Given the description of an element on the screen output the (x, y) to click on. 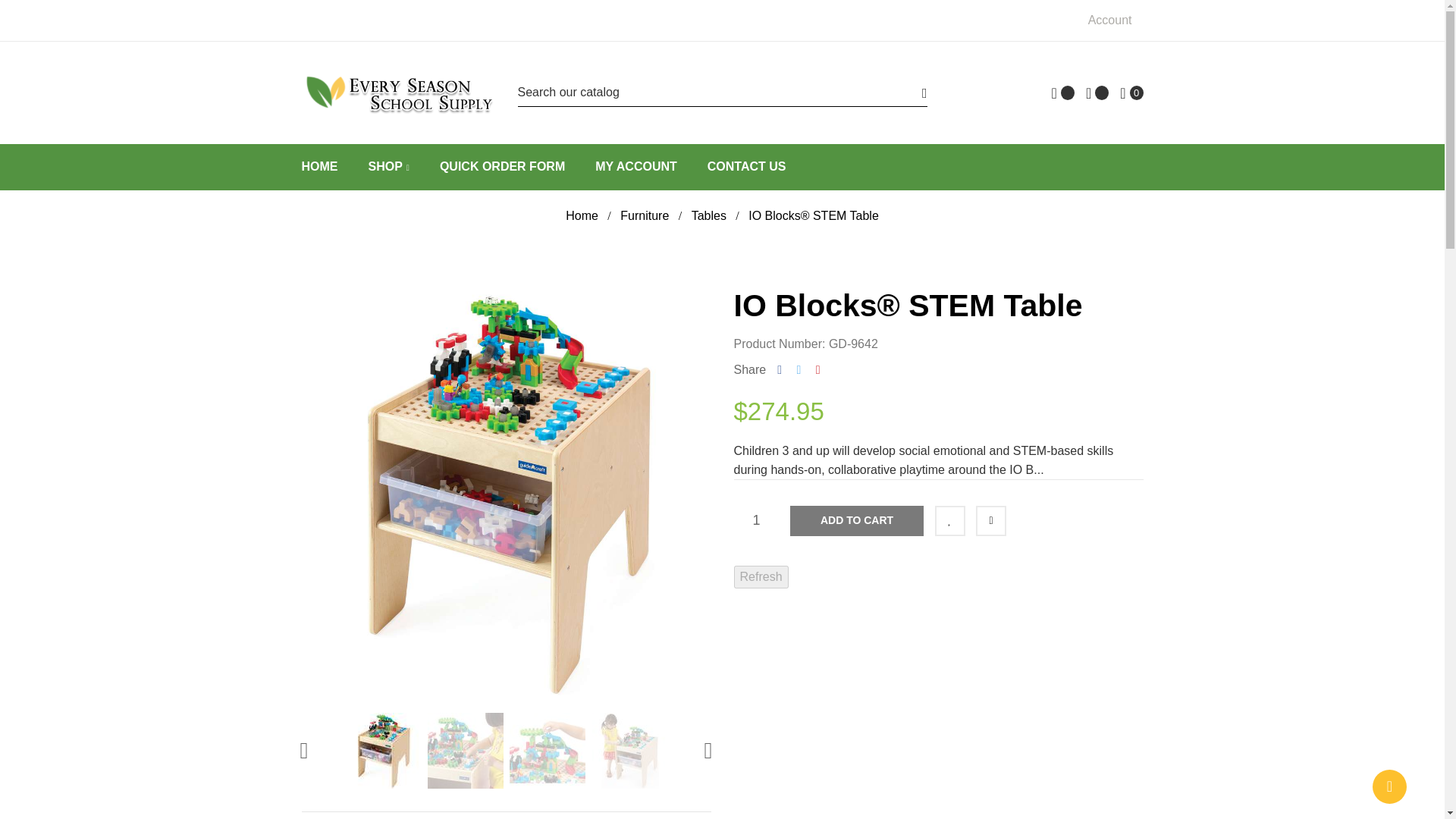
Add to Compare (990, 521)
MY ACCOUNT (636, 166)
Every Season School Supply (398, 92)
Account (1113, 20)
QUICK ORDER FORM (501, 166)
Add to Wishlist (949, 521)
Account (1113, 20)
Refresh (761, 576)
1 (755, 521)
